Given the description of an element on the screen output the (x, y) to click on. 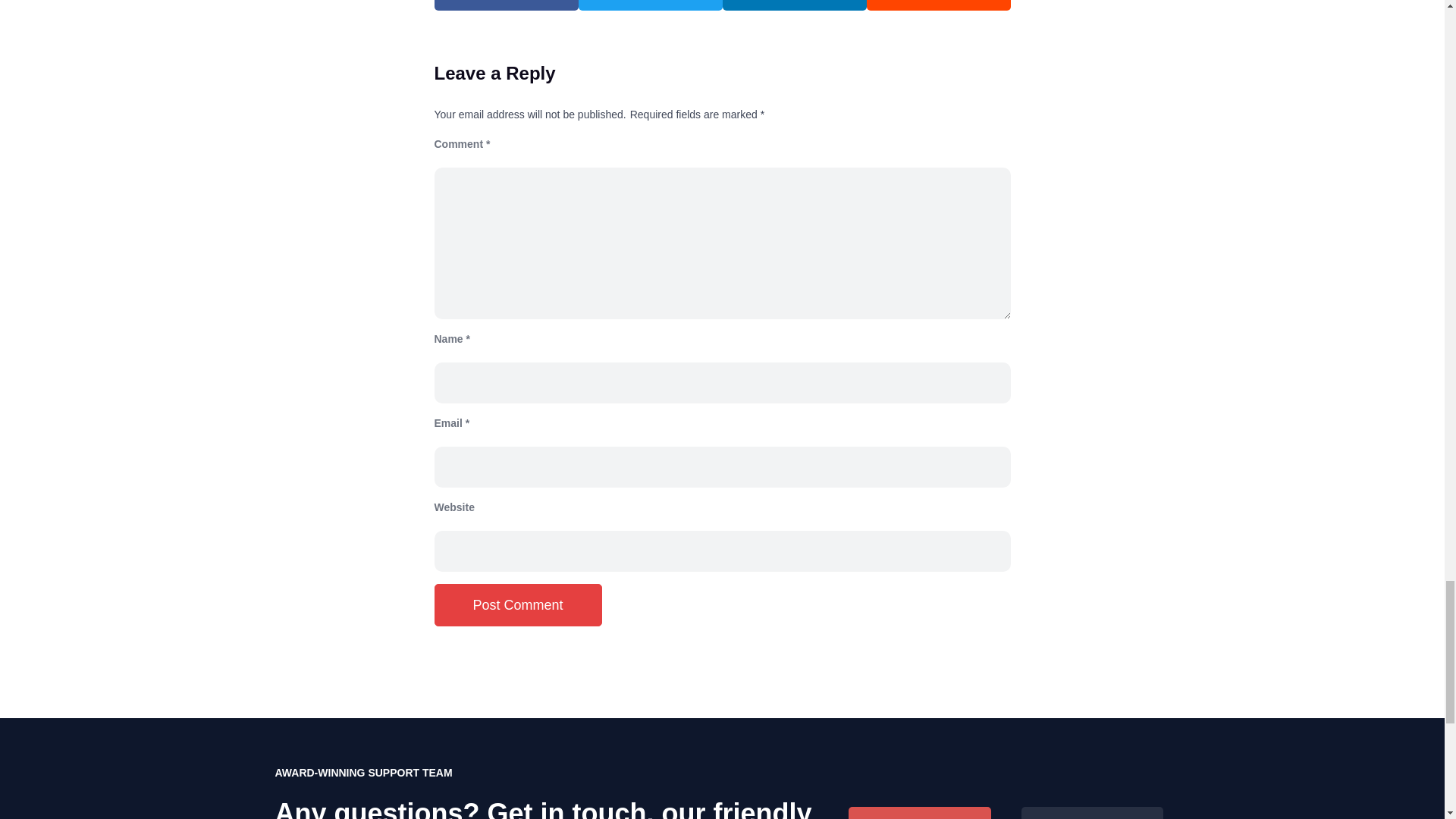
Knowledgebase (1092, 812)
Post Comment (517, 604)
Post Comment (517, 604)
Contact Support (919, 812)
